Given the description of an element on the screen output the (x, y) to click on. 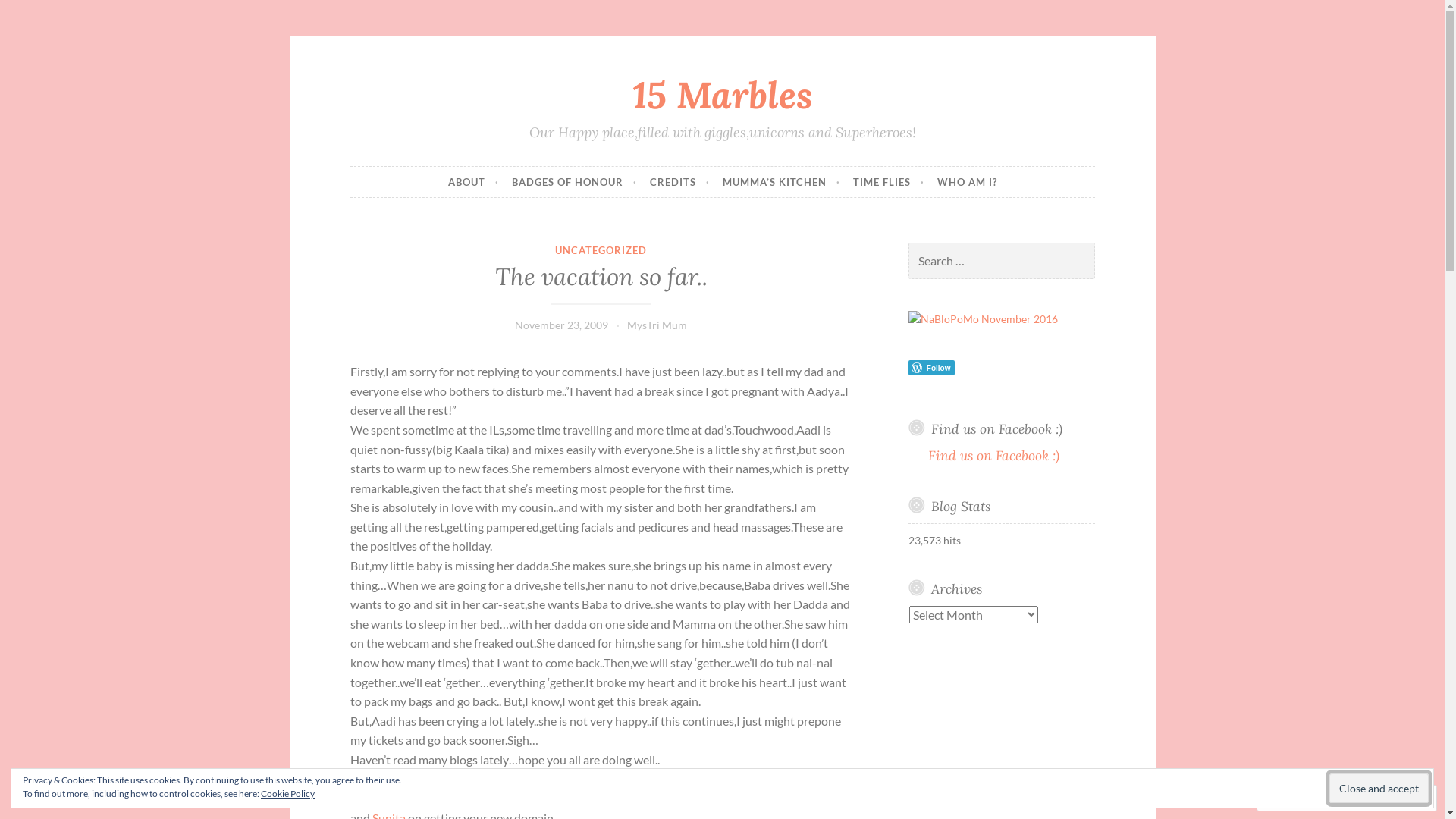
Mona Element type: text (415, 778)
CREDITS Element type: text (679, 181)
ABOUT Element type: text (472, 181)
TIME FLIES Element type: text (887, 181)
UNCATEGORIZED Element type: text (600, 250)
Follow Button Element type: hover (1001, 366)
Find us on Facebook :) Element type: text (993, 455)
WHO AM I? Element type: text (967, 181)
November 23, 2009 Element type: text (561, 324)
Find us on Facebook :) Element type: text (996, 428)
Search Element type: text (32, 14)
BADGES OF HONOUR Element type: text (573, 181)
Cookie Policy Element type: text (287, 793)
Close and accept Element type: text (1378, 788)
Follow Element type: text (1373, 797)
Comment Element type: text (1297, 797)
Parul Element type: text (414, 797)
15 Marbles Element type: text (722, 94)
MysTri Mum Element type: text (657, 324)
